Given the description of an element on the screen output the (x, y) to click on. 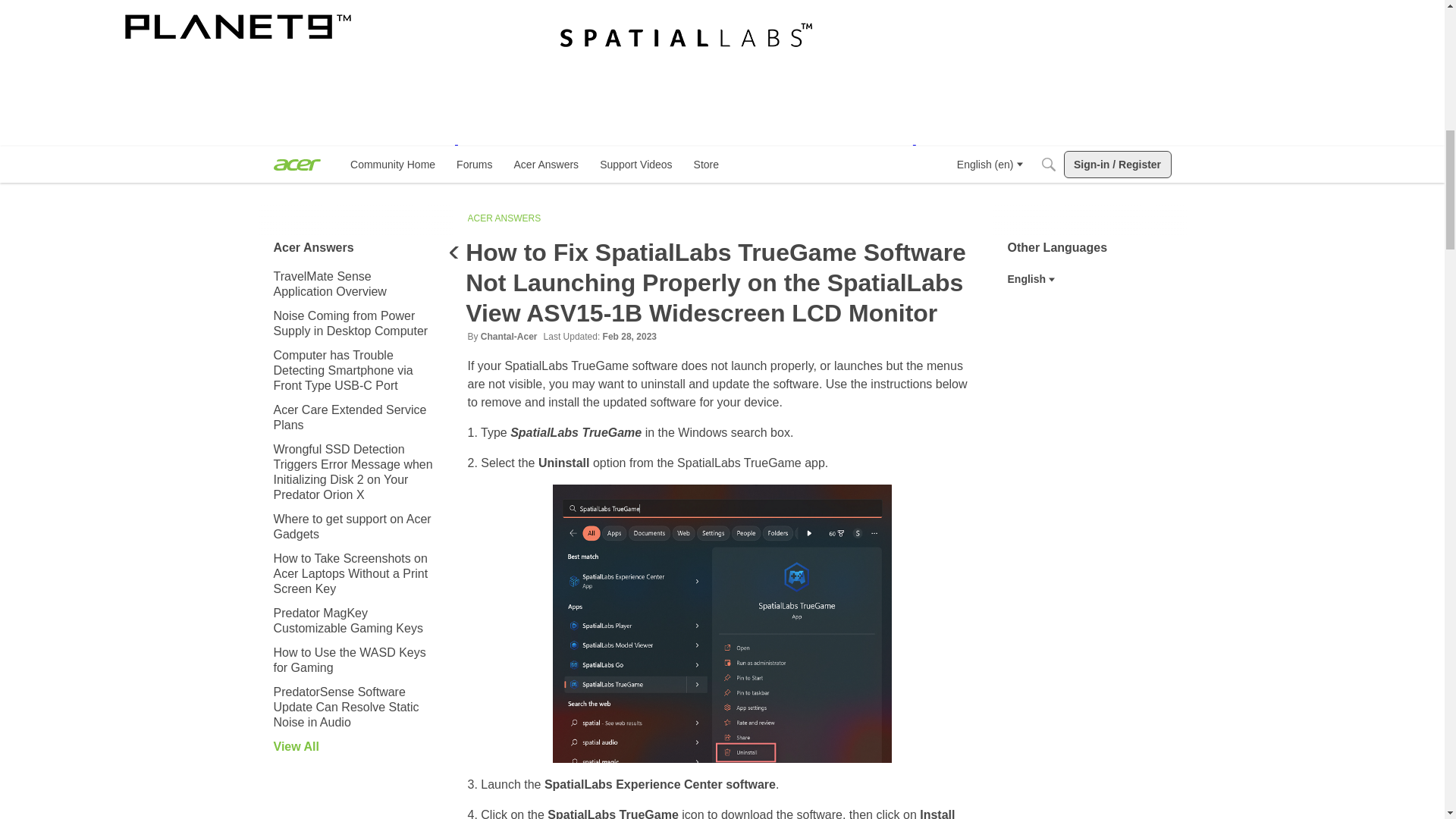
Feb 28, 2023 (629, 336)
Acer Answers (546, 164)
Chantal-Acer (508, 336)
Forums (473, 164)
ACER ANSWERS (503, 218)
View All (354, 746)
Store (706, 164)
Search (1047, 164)
Acer Care Extended Service Plans (354, 417)
